Given the description of an element on the screen output the (x, y) to click on. 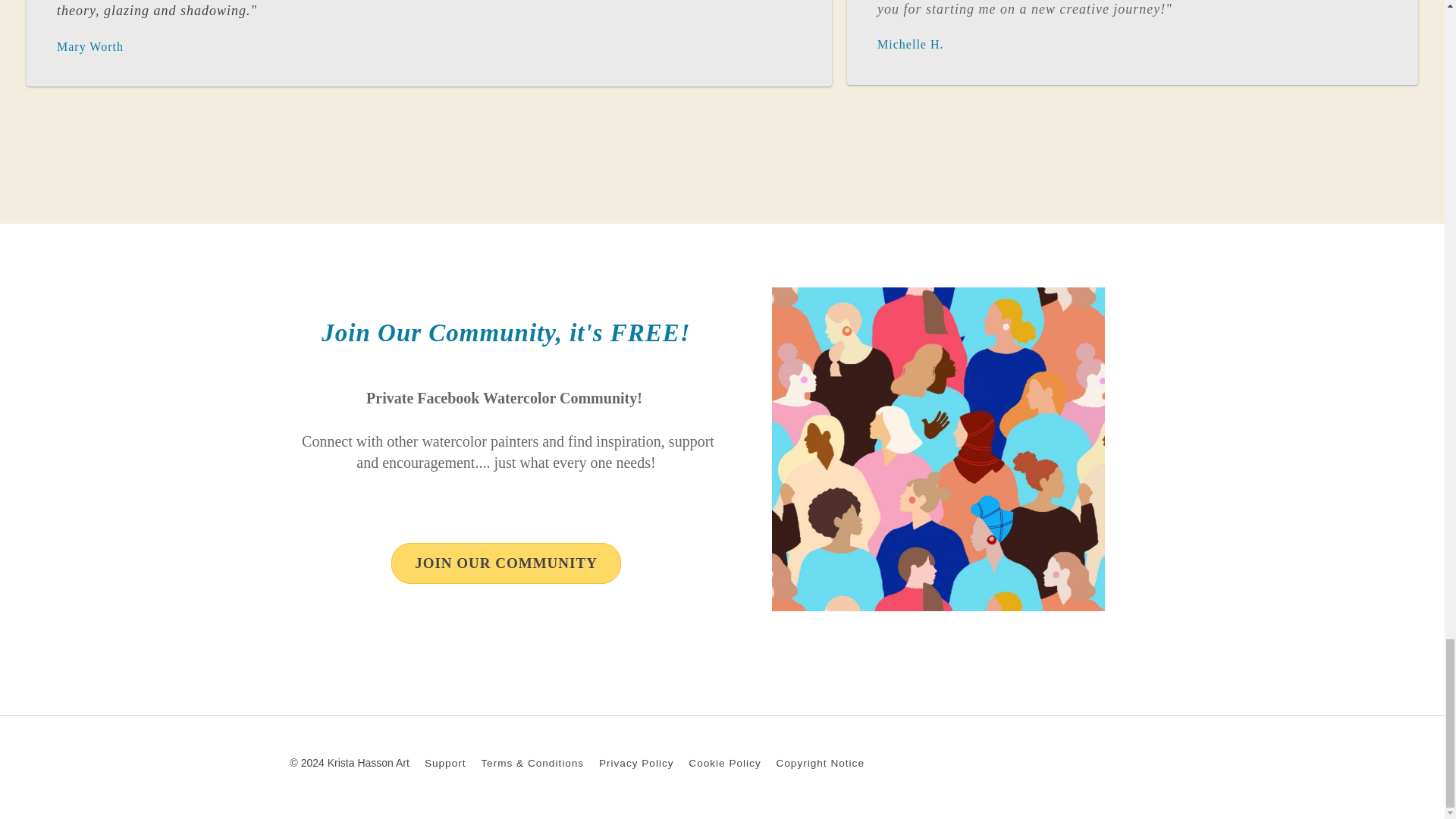
Copyright Notice (820, 763)
Support (445, 763)
Cookie Policy (724, 763)
Privacy Policy (636, 763)
JOIN OUR COMMUNITY (506, 562)
